Given the description of an element on the screen output the (x, y) to click on. 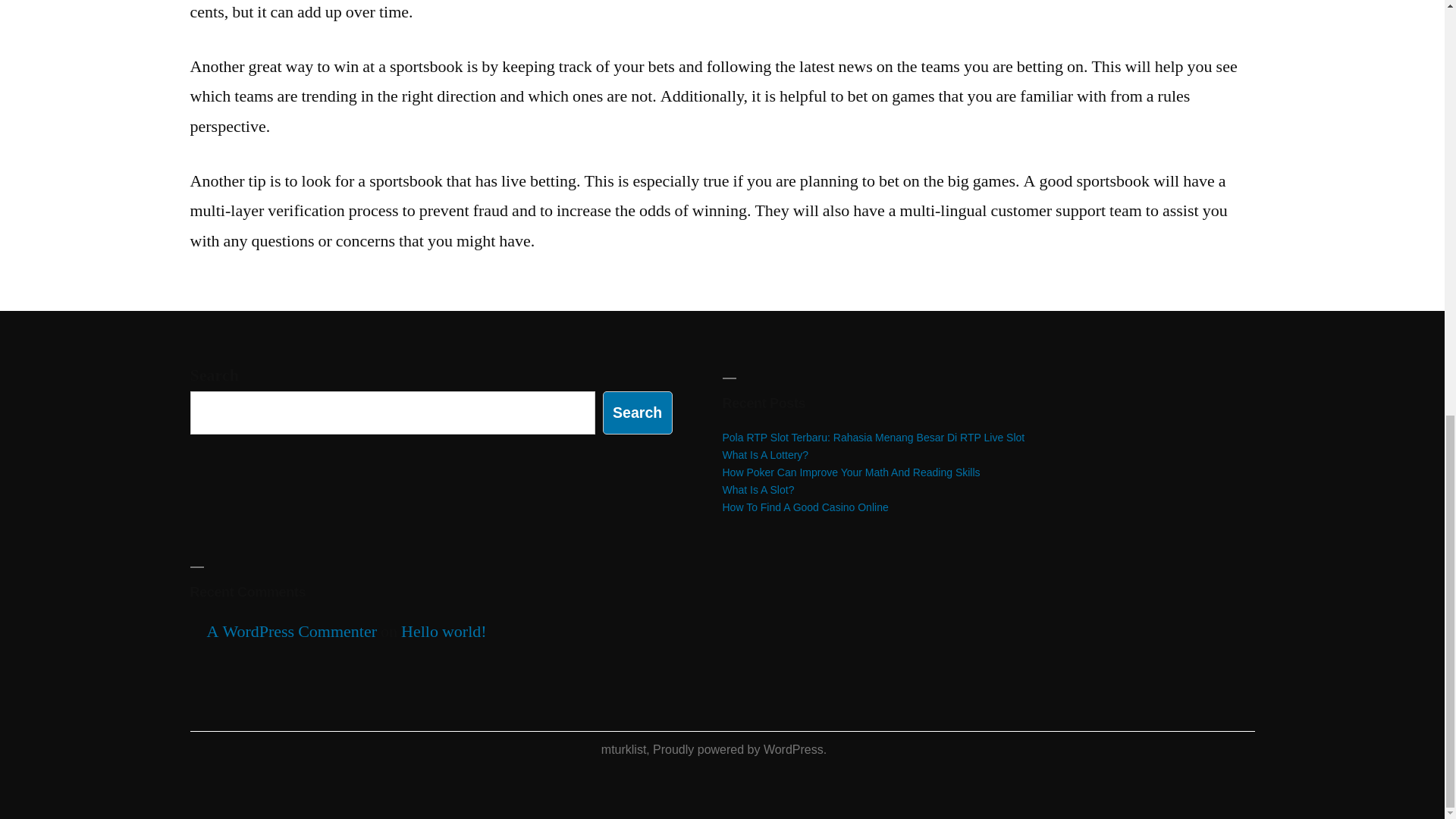
Search (637, 412)
Pola RTP Slot Terbaru: Rahasia Menang Besar Di RTP Live Slot (873, 437)
How To Find A Good Casino Online (805, 507)
What Is A Slot? (757, 490)
Hello world! (443, 631)
Proudly powered by WordPress. (739, 748)
A WordPress Commenter (291, 631)
How Poker Can Improve Your Math And Reading Skills (850, 472)
What Is A Lottery? (765, 454)
mturklist (623, 748)
